Given the description of an element on the screen output the (x, y) to click on. 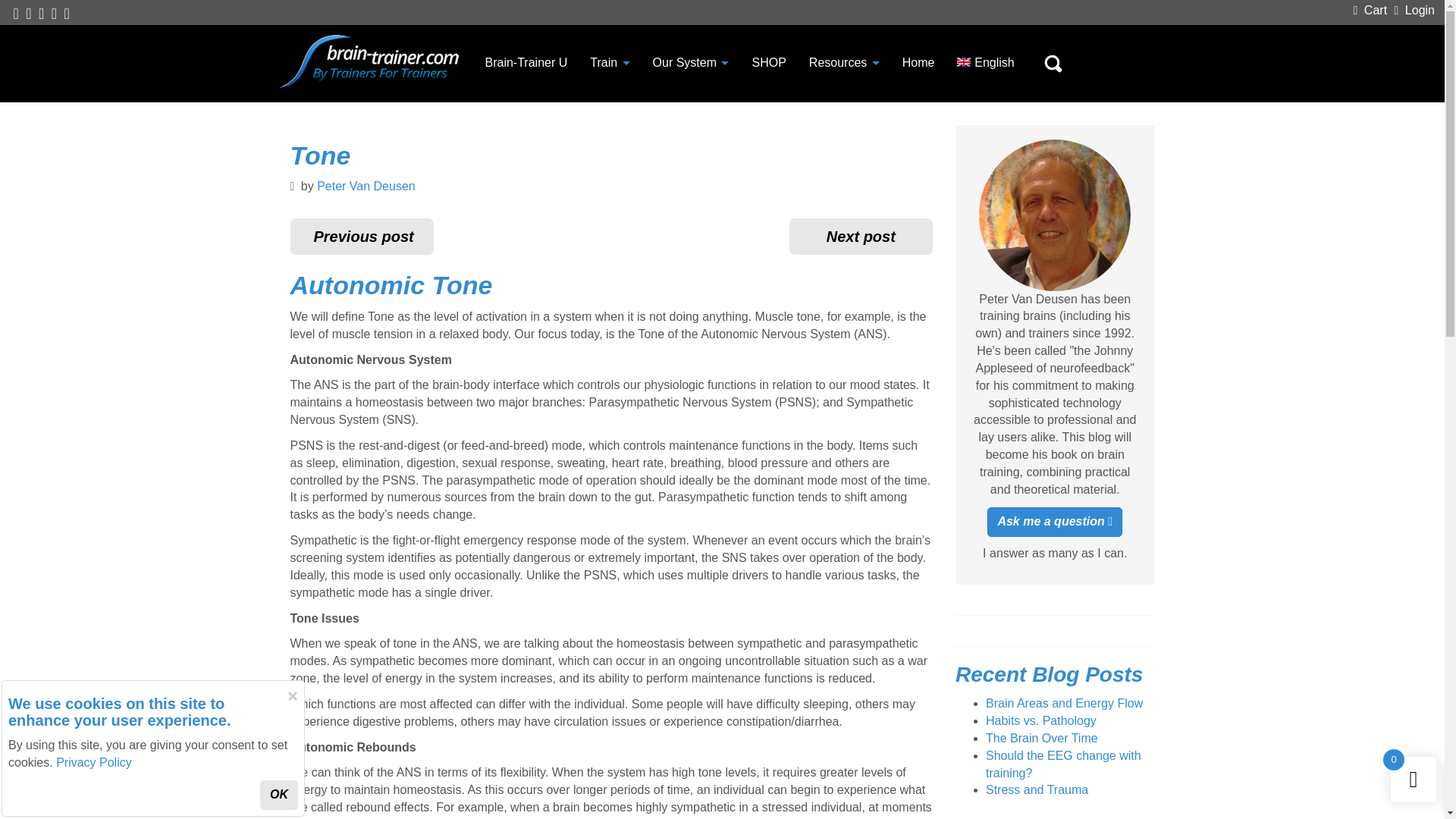
English (984, 62)
Our System (691, 62)
Shopping Cart (1372, 9)
Brain-Trainer U (525, 62)
Our System (691, 62)
Brain-Trainer U (525, 62)
Instagram (66, 13)
Login (1416, 9)
SHOP (767, 62)
YouTube (41, 13)
Train (609, 62)
groups.io (53, 13)
Train (609, 62)
Peter Van Deusen (365, 185)
 Login (1416, 9)
